Given the description of an element on the screen output the (x, y) to click on. 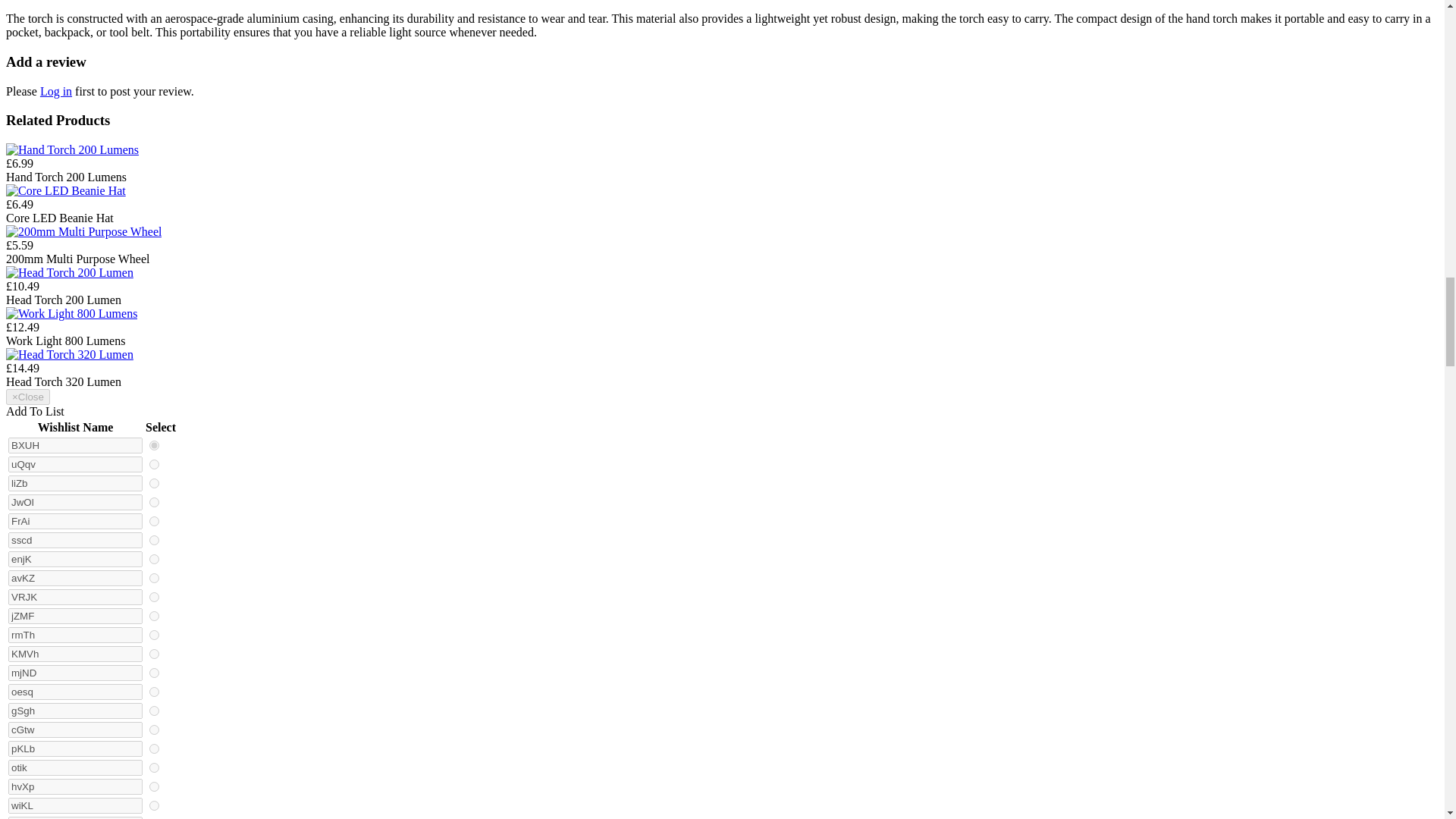
JwOl (75, 502)
70799672 (153, 501)
29301310 (153, 578)
uQqv (75, 464)
VRJK (75, 596)
sscd (75, 539)
enjK (75, 559)
98493288 (153, 483)
13367492 (153, 540)
31229683 (153, 464)
16612292 (153, 521)
66801070 (153, 596)
liZb (75, 483)
12763562 (153, 445)
FrAi (75, 521)
